Given the description of an element on the screen output the (x, y) to click on. 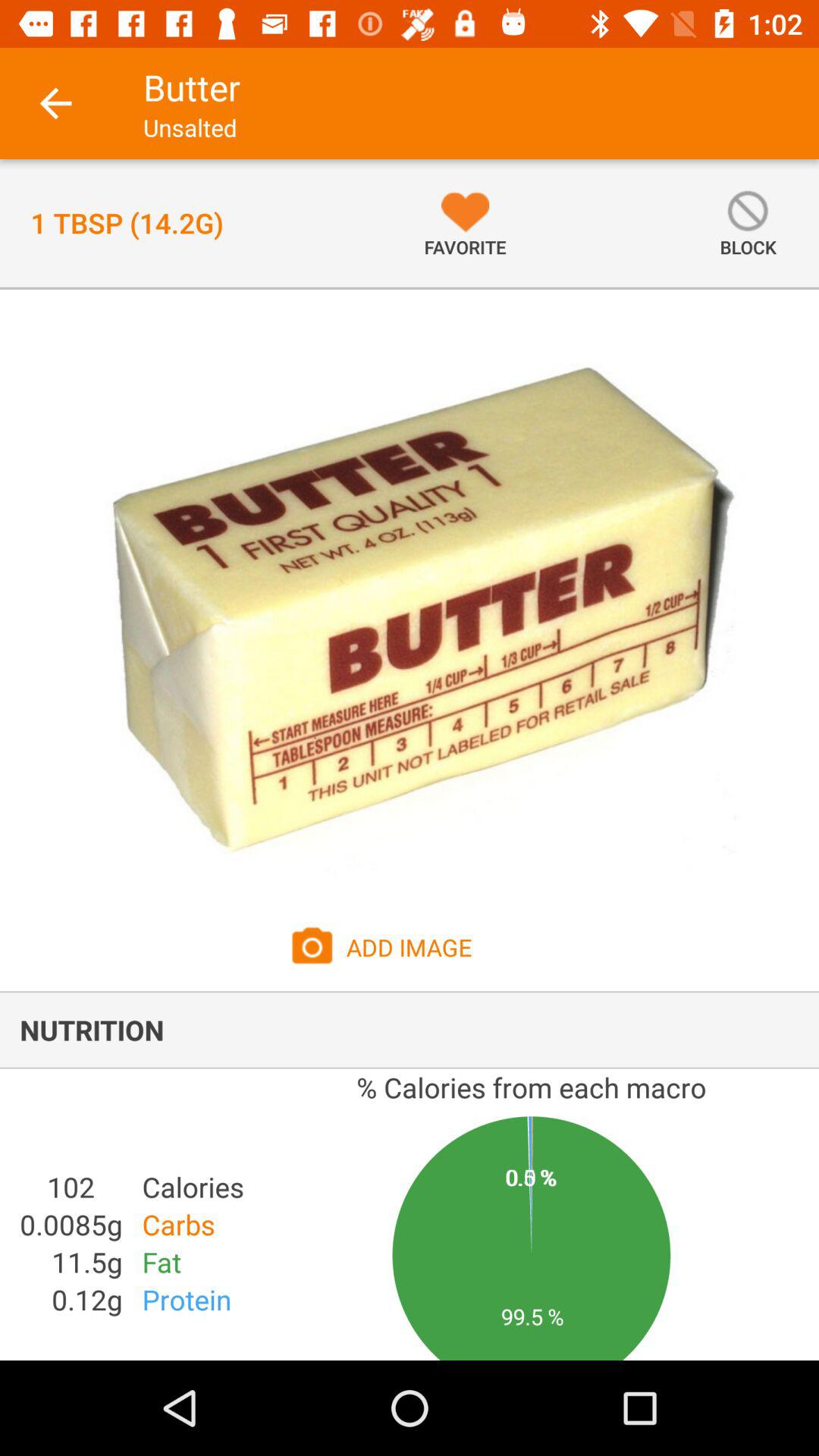
launch the favorite icon (464, 223)
